Given the description of an element on the screen output the (x, y) to click on. 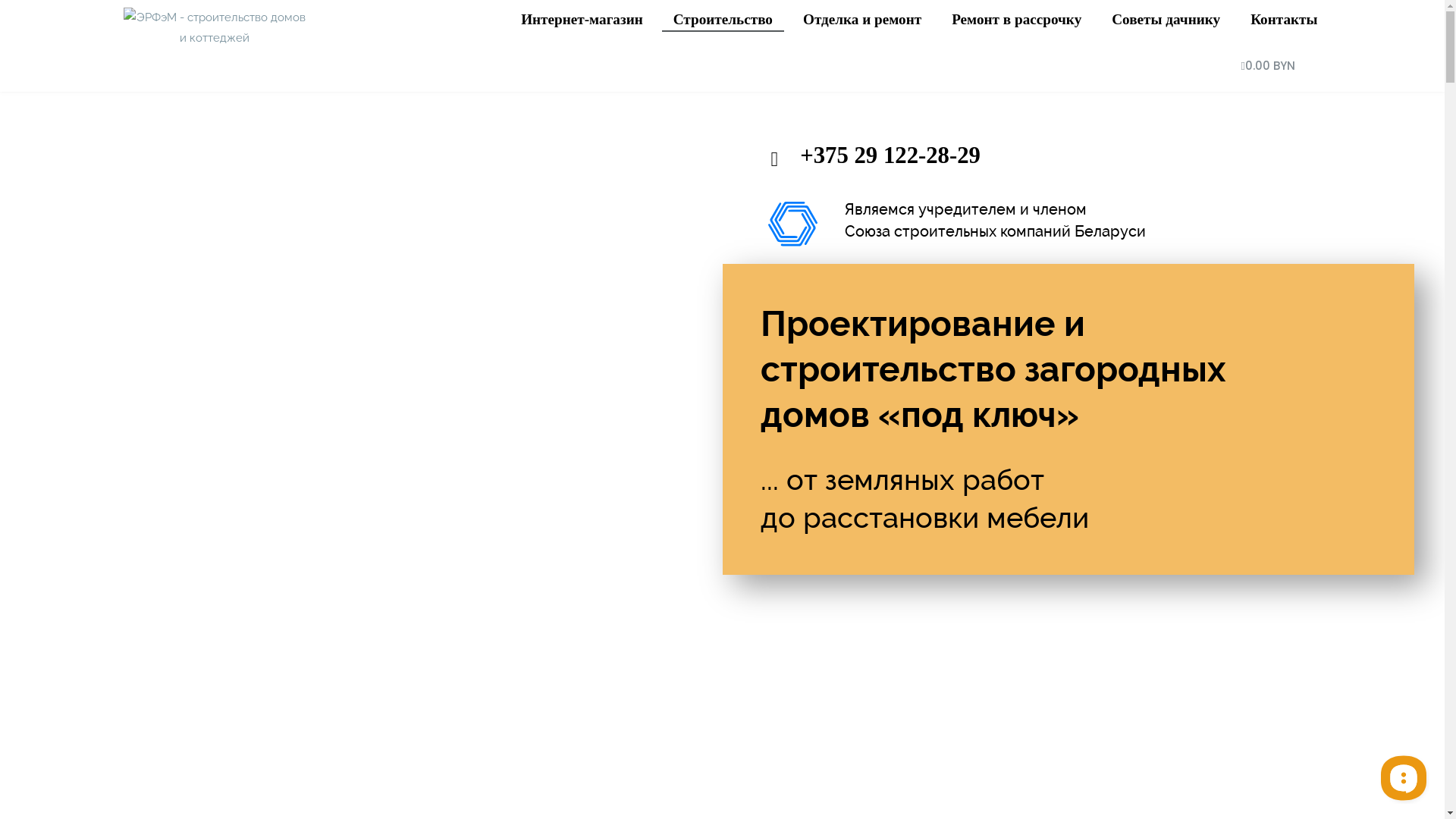
+375 29 122-28-29 Element type: text (1107, 155)
__replain_widget_iframe Element type: hover (1402, 776)
0.00 BYN Element type: text (1269, 65)
